Given the description of an element on the screen output the (x, y) to click on. 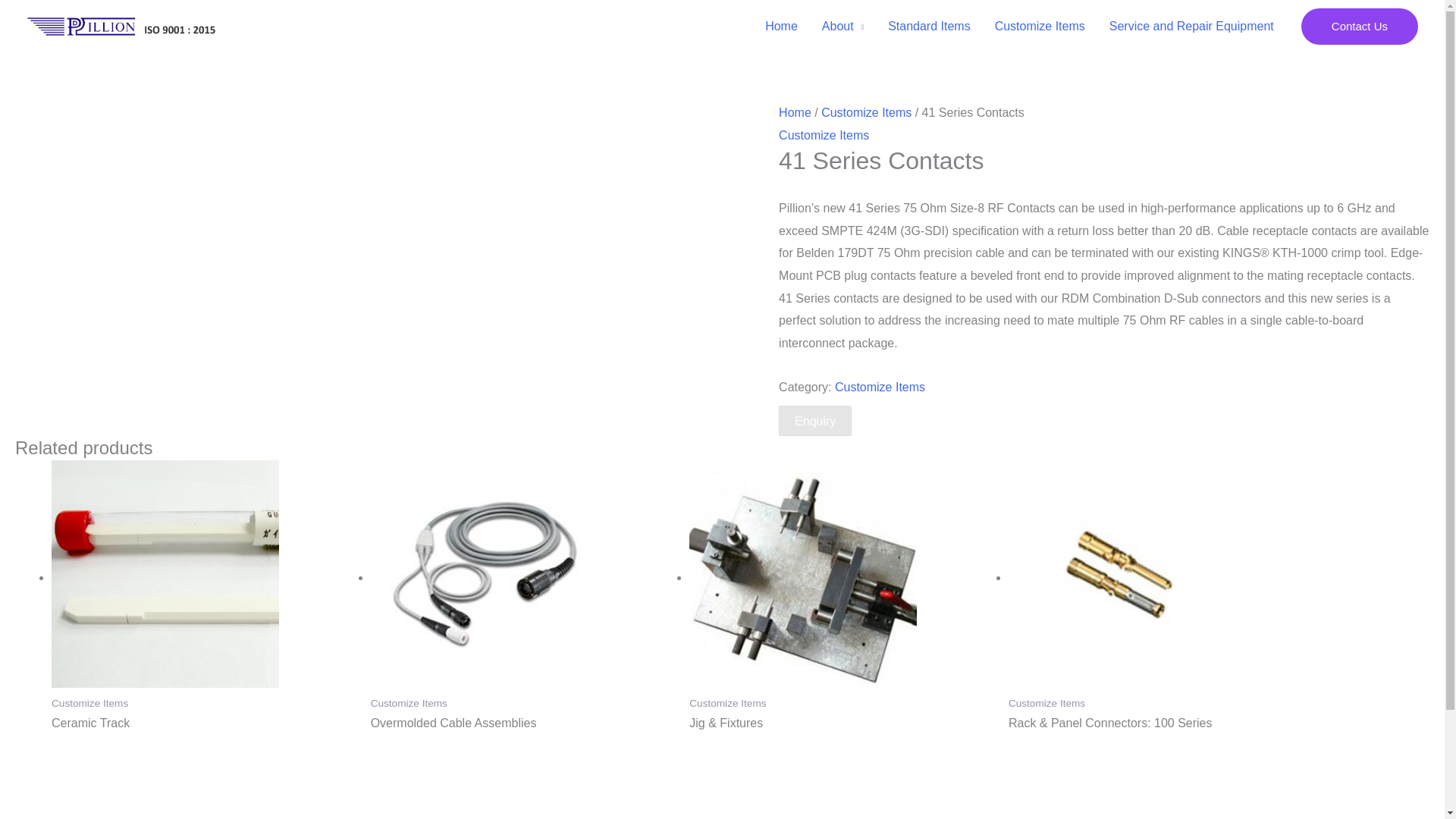
Service and Repair Equipment (1191, 26)
Standard Items (929, 26)
Customize Items (823, 134)
Contact Us (1359, 26)
Customize Items (879, 386)
About (842, 26)
Customize Items (1039, 26)
Ceramic Track (202, 723)
Home (780, 26)
Home (794, 112)
